Given the description of an element on the screen output the (x, y) to click on. 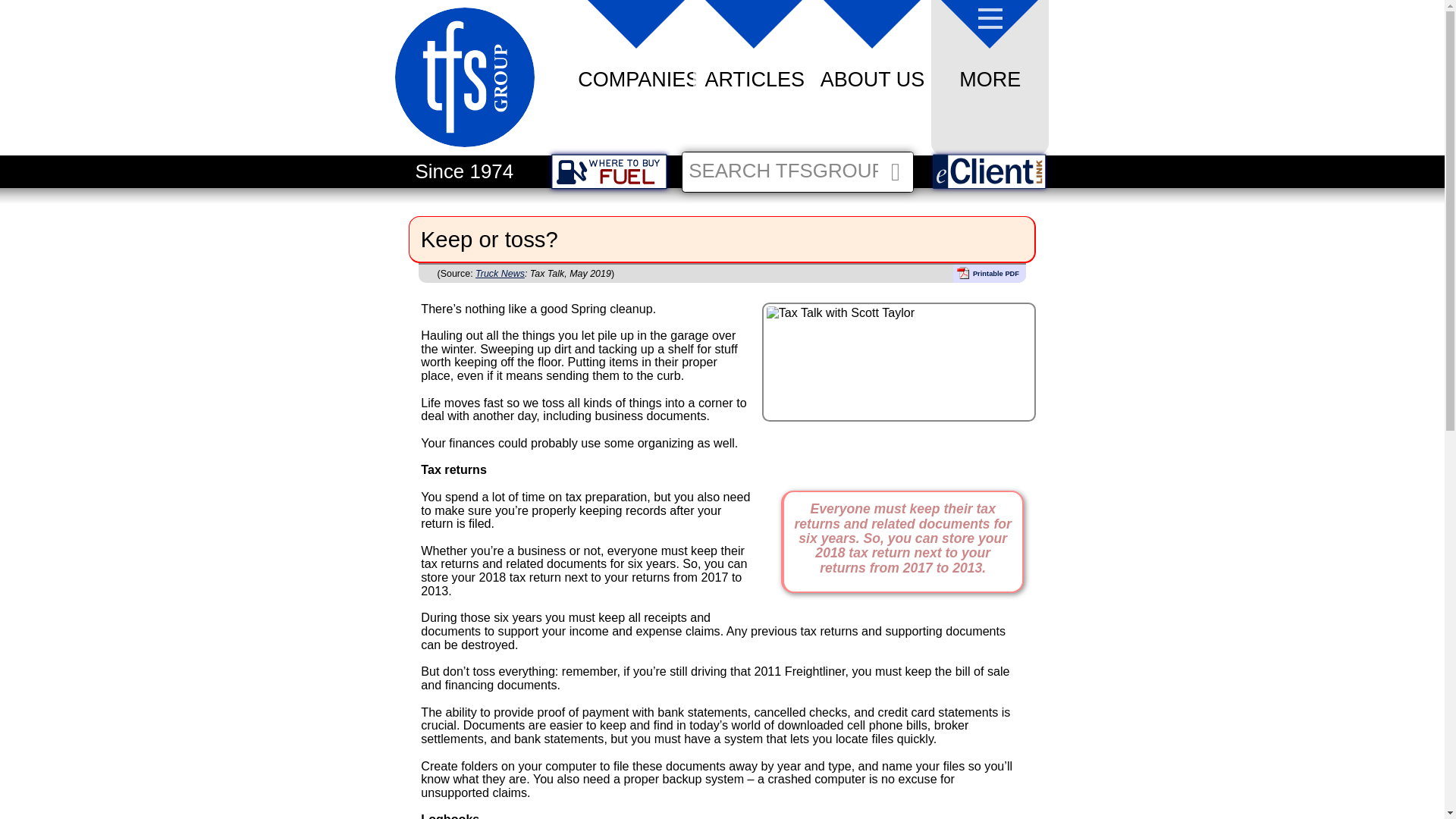
TFS Group (464, 150)
Truck News (500, 273)
TFS Group logo (464, 81)
Printable PDF (989, 273)
